Given the description of an element on the screen output the (x, y) to click on. 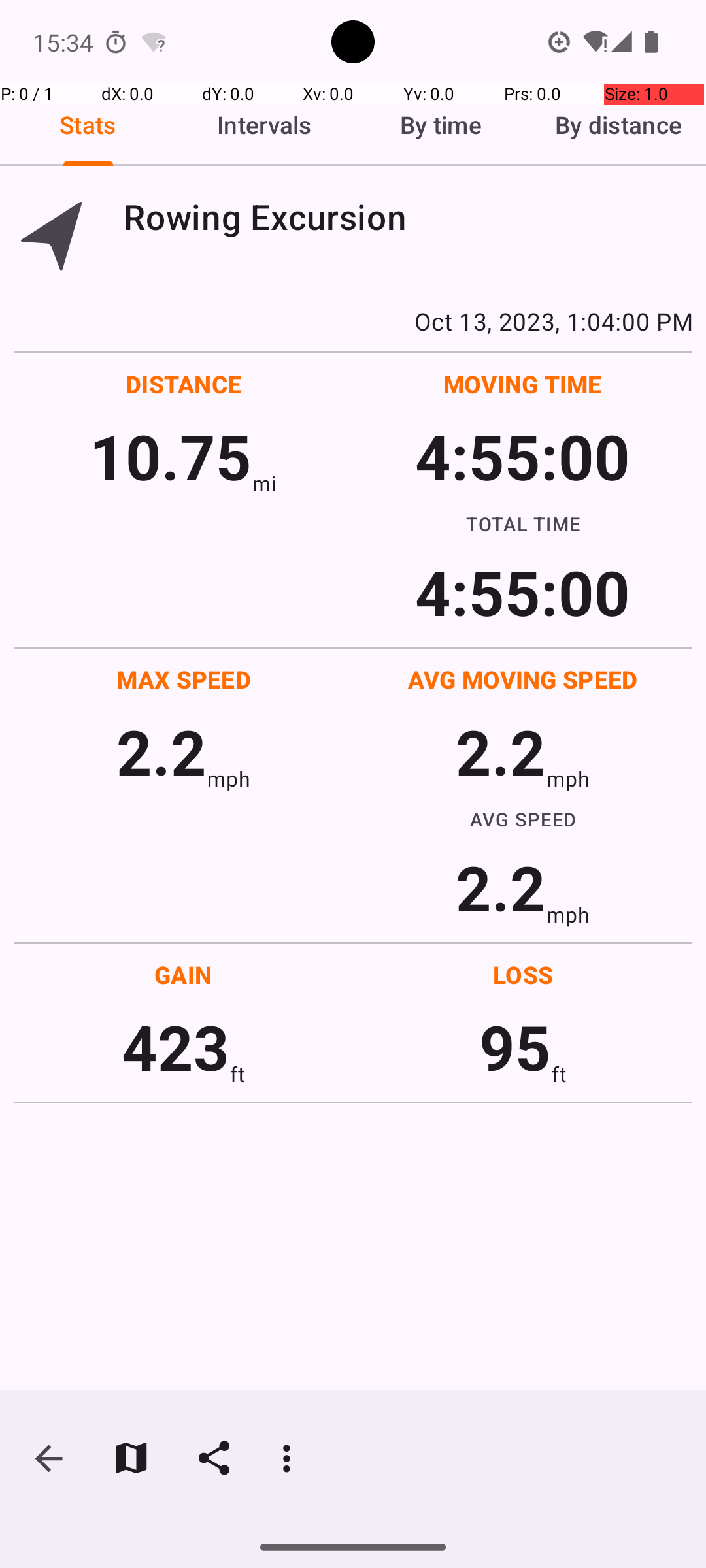
Rowing Excursion Element type: android.widget.TextView (407, 216)
Oct 13, 2023, 1:04:00 PM Element type: android.widget.TextView (352, 320)
10.75 Element type: android.widget.TextView (170, 455)
4:55:00 Element type: android.widget.TextView (522, 455)
2.2 Element type: android.widget.TextView (161, 750)
423 Element type: android.widget.TextView (175, 1045)
95 Element type: android.widget.TextView (515, 1045)
